Given the description of an element on the screen output the (x, y) to click on. 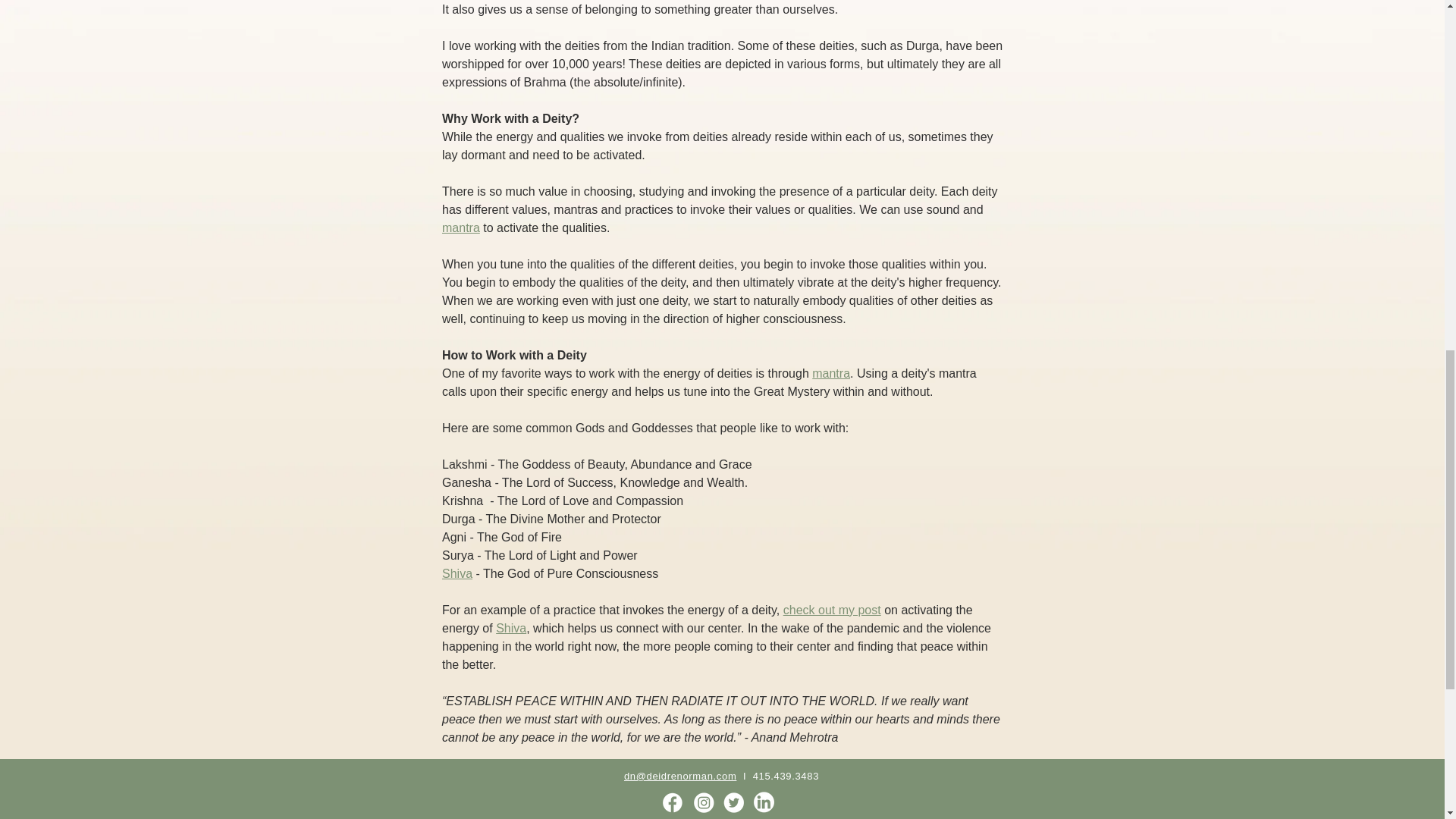
check out my post (831, 609)
Shiva (510, 627)
mantra (831, 373)
Shiva (456, 573)
mantra (460, 227)
